Given the description of an element on the screen output the (x, y) to click on. 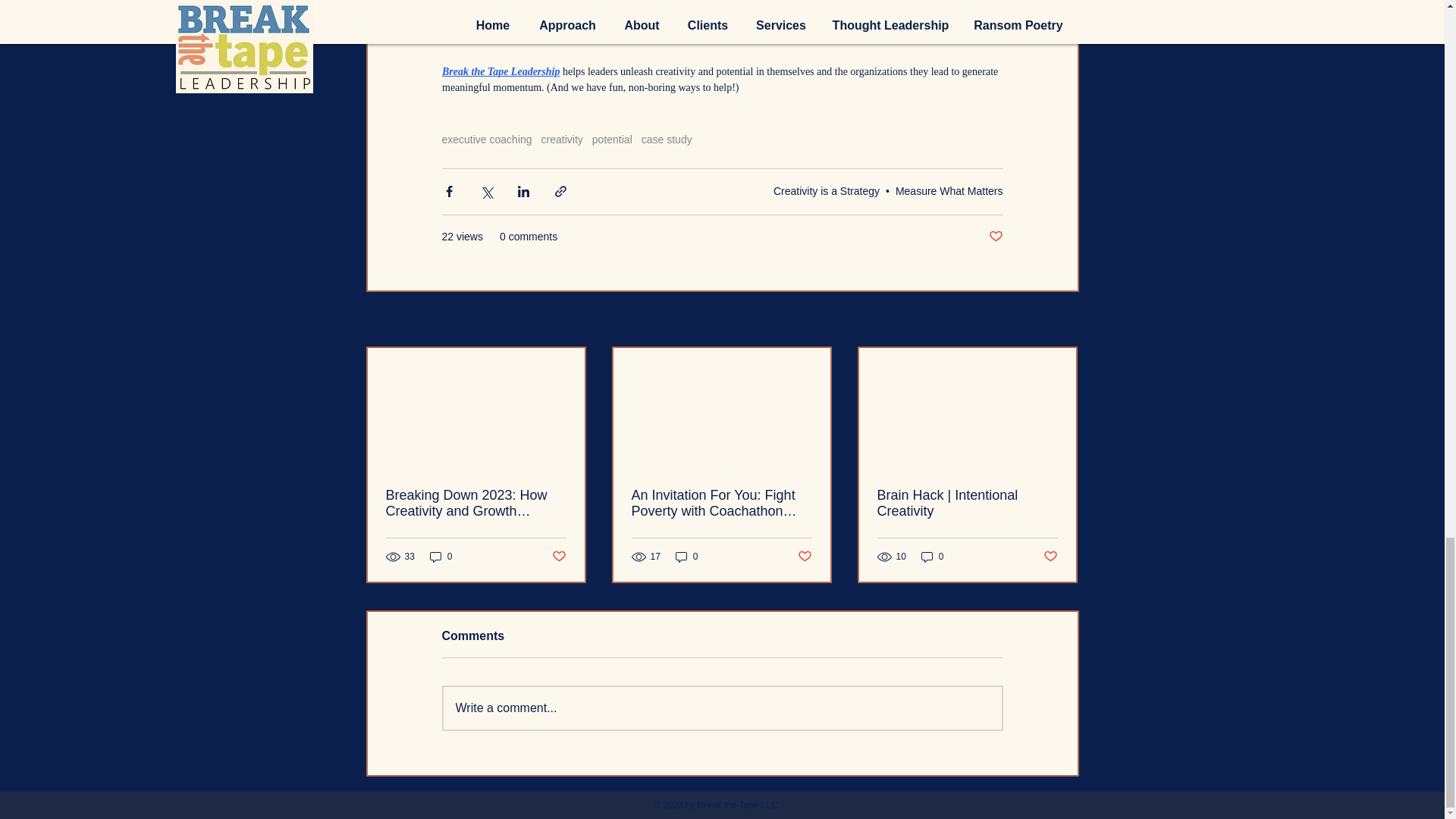
Creativity is a Strategy (826, 191)
Measure What Matters (949, 191)
Post not marked as liked (995, 236)
0 (441, 556)
creativity (562, 139)
See All (1061, 320)
Break the Tape Leadership (500, 71)
potential (611, 139)
executive coaching (486, 139)
case study (667, 139)
